Given the description of an element on the screen output the (x, y) to click on. 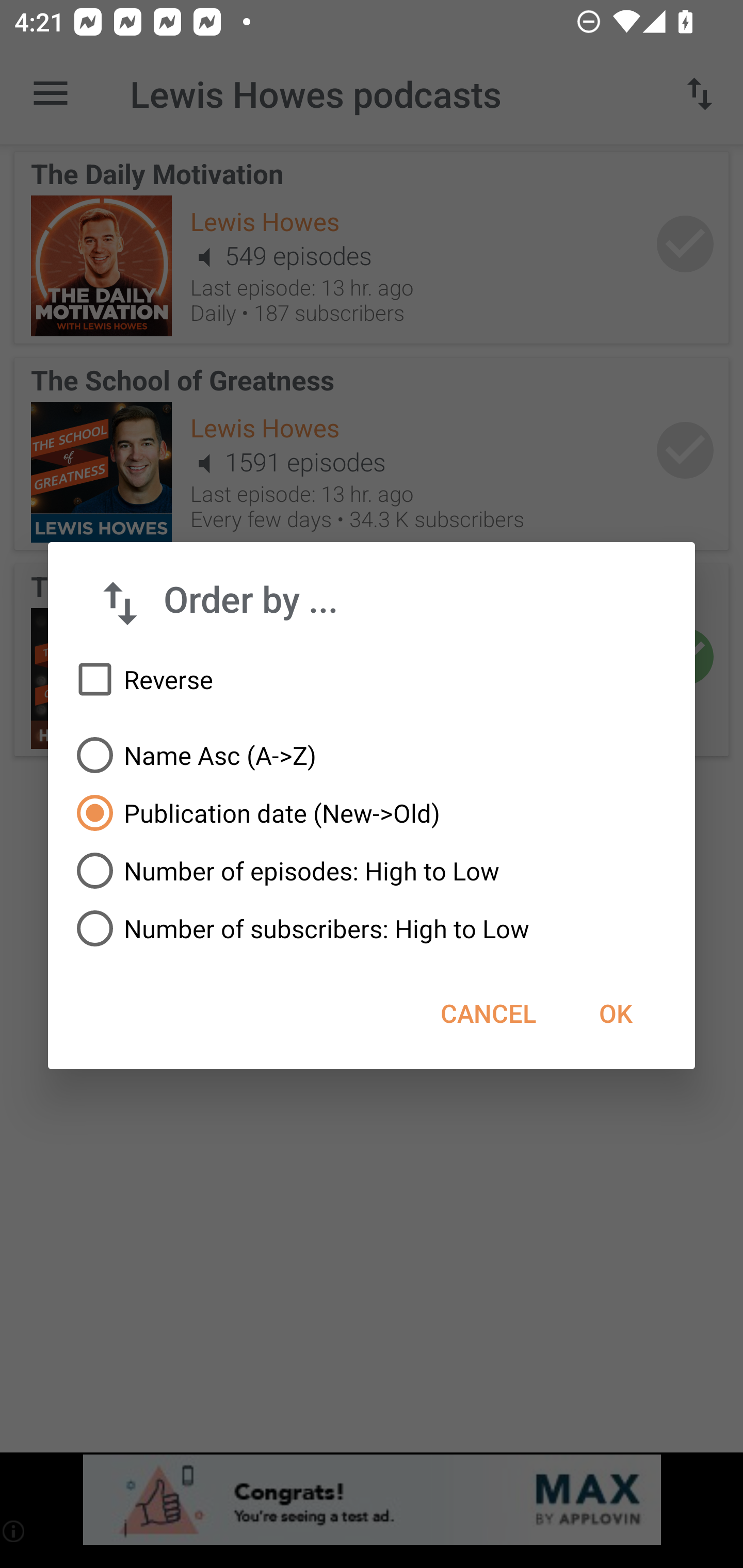
Reverse (371, 679)
Name Asc (A->Z) (371, 754)
Publication date (New->Old) (371, 813)
Number of episodes: High to Low (371, 871)
Number of subscribers: High to Low (371, 929)
CANCEL (488, 1012)
OK (615, 1012)
